Given the description of an element on the screen output the (x, y) to click on. 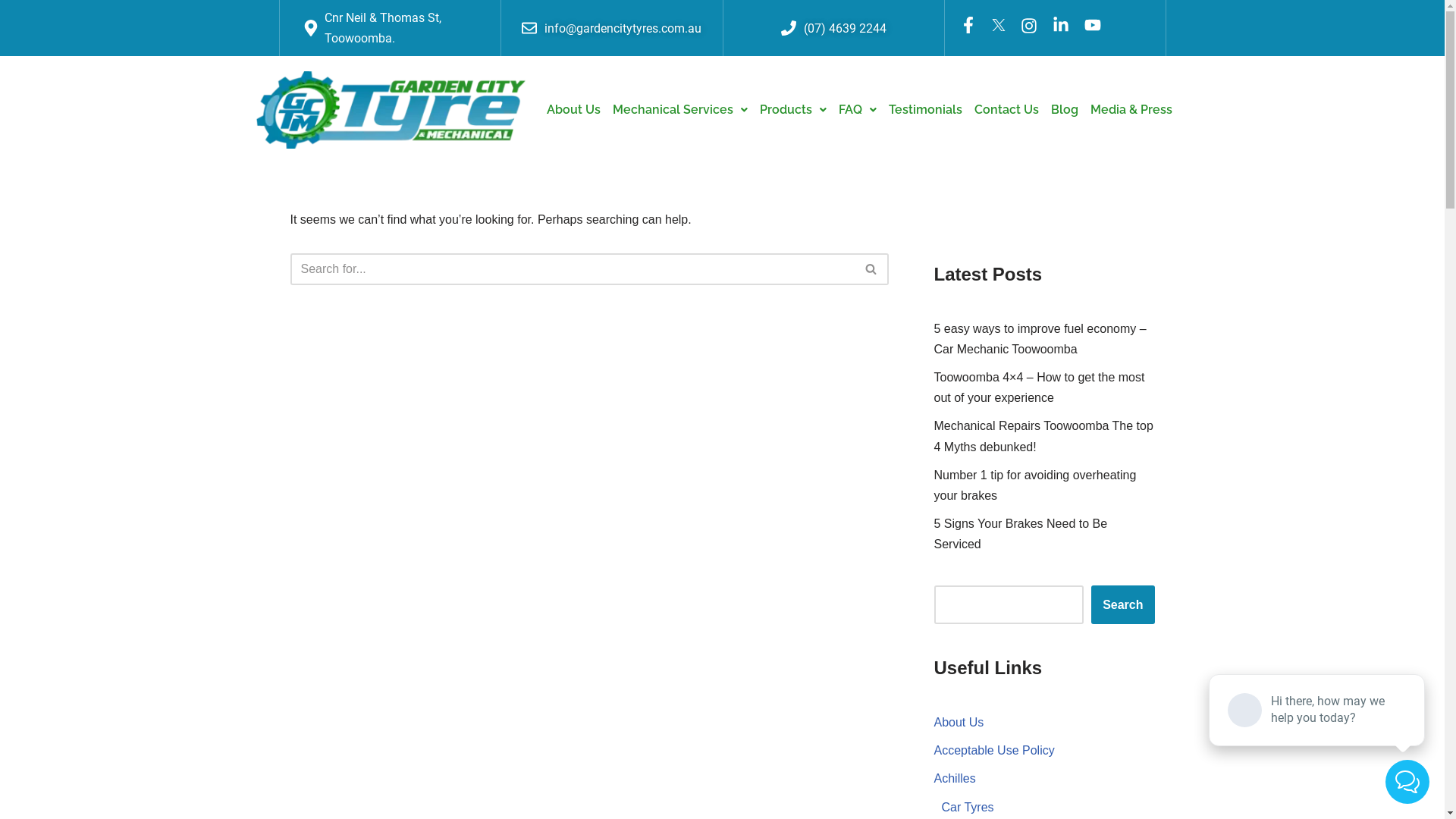
Mechanical Services Element type: text (679, 109)
Acceptable Use Policy Element type: text (994, 749)
Achilles Element type: text (954, 777)
Mechanical Repairs Toowoomba The top 4 Myths debunked! Element type: text (1043, 435)
Products Element type: text (792, 109)
Number 1 tip for avoiding overheating your brakes Element type: text (1035, 485)
5 Signs Your Brakes Need to Be Serviced Element type: text (1020, 533)
Blog Element type: text (1064, 109)
Search Element type: text (1122, 604)
FAQ Element type: text (857, 109)
Car Tyres Element type: text (967, 806)
Testimonials Element type: text (925, 109)
x Element type: hover (998, 24)
(07) 4639 2244 Element type: text (833, 28)
About Us Element type: text (959, 721)
Media & Press Element type: text (1131, 109)
Skip to content Element type: text (11, 31)
Contact Us Element type: text (1005, 109)
About Us Element type: text (572, 109)
